Given the description of an element on the screen output the (x, y) to click on. 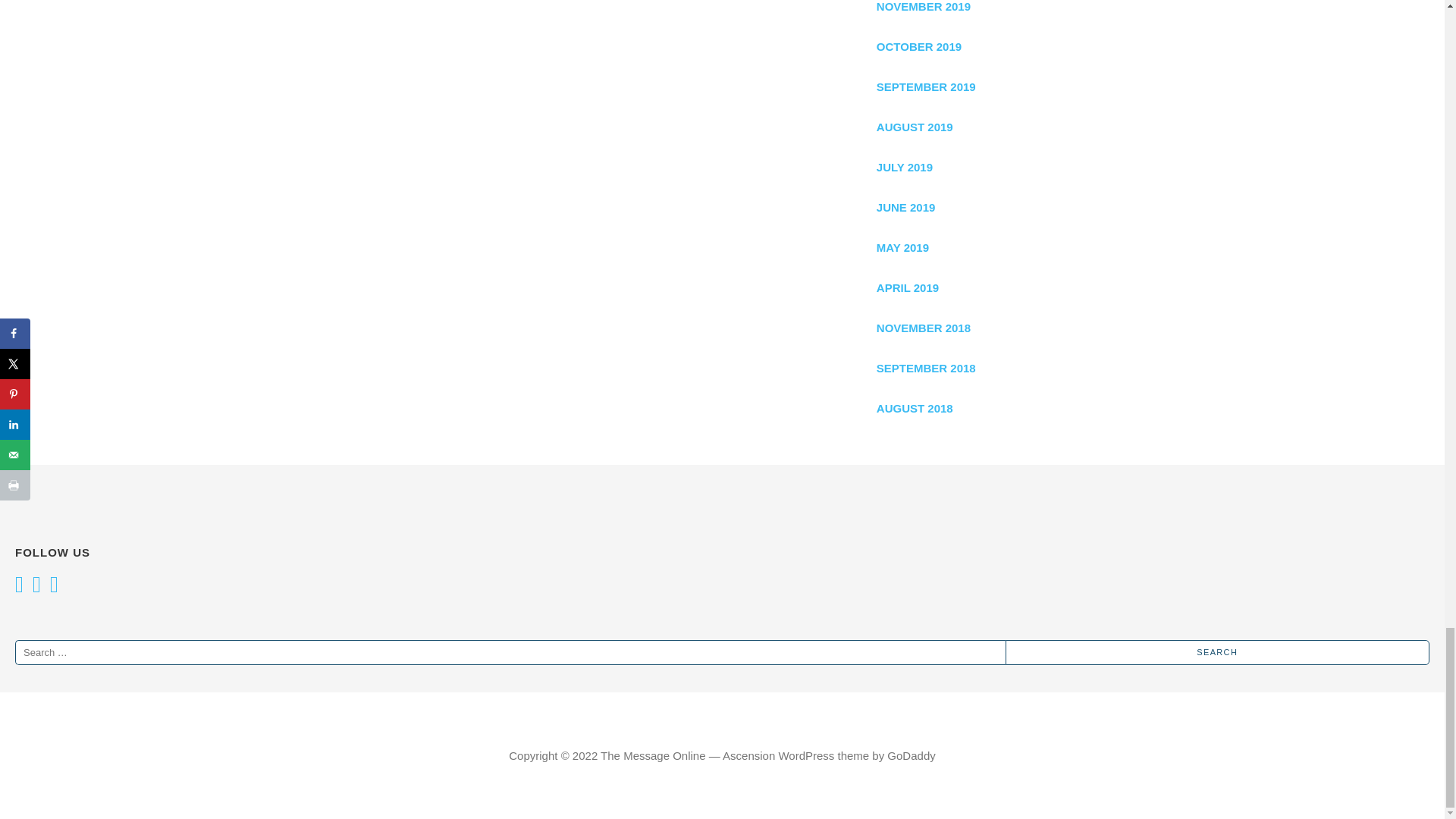
Search (1217, 652)
Search (1217, 652)
